Given the description of an element on the screen output the (x, y) to click on. 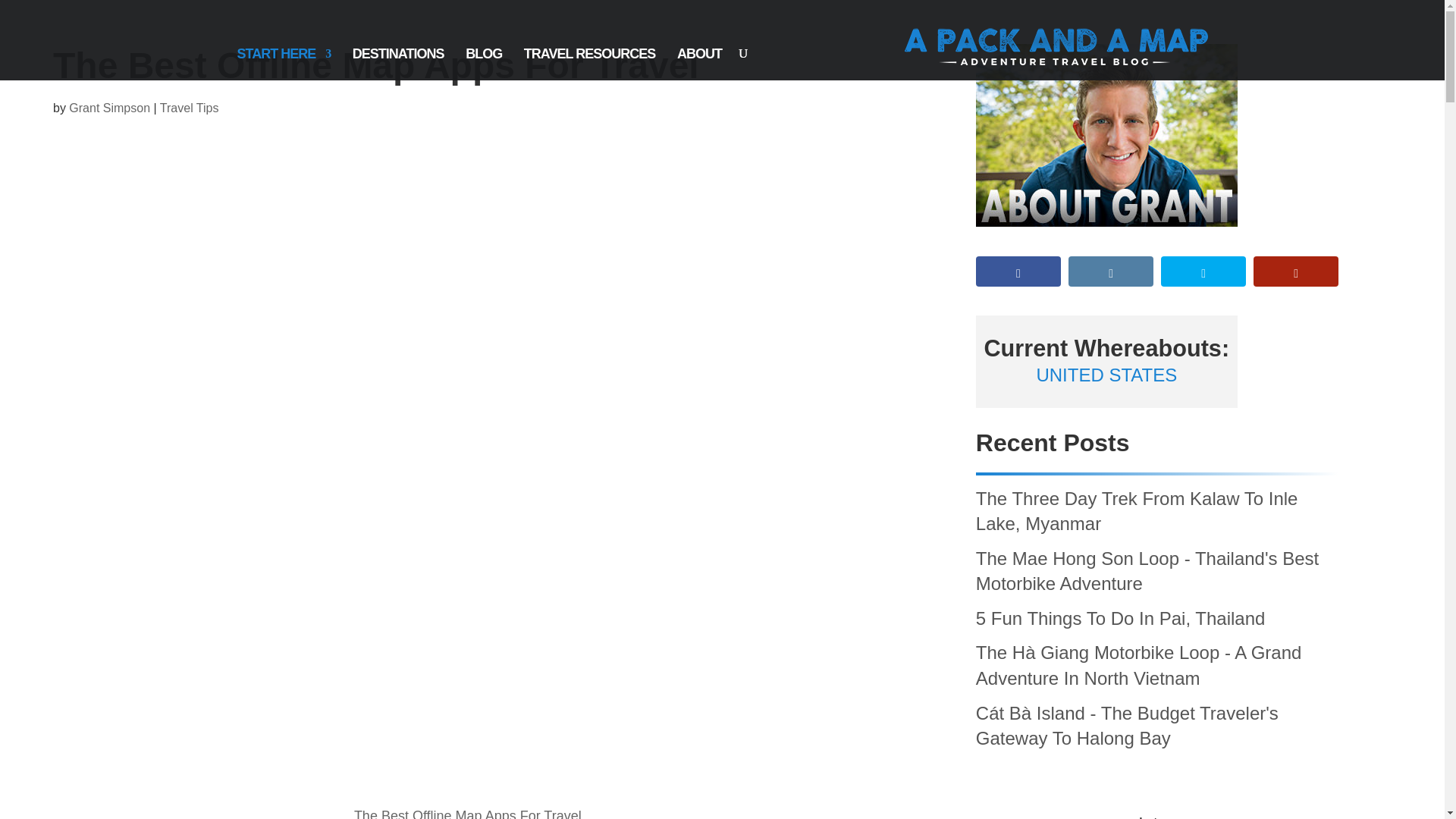
TRAVEL RESOURCES (589, 71)
Travel Tips (189, 107)
Posts by Grant Simpson (108, 107)
DESTINATIONS (398, 71)
START HERE (282, 71)
ABOUT (699, 71)
Grant Simpson (108, 107)
